Given the description of an element on the screen output the (x, y) to click on. 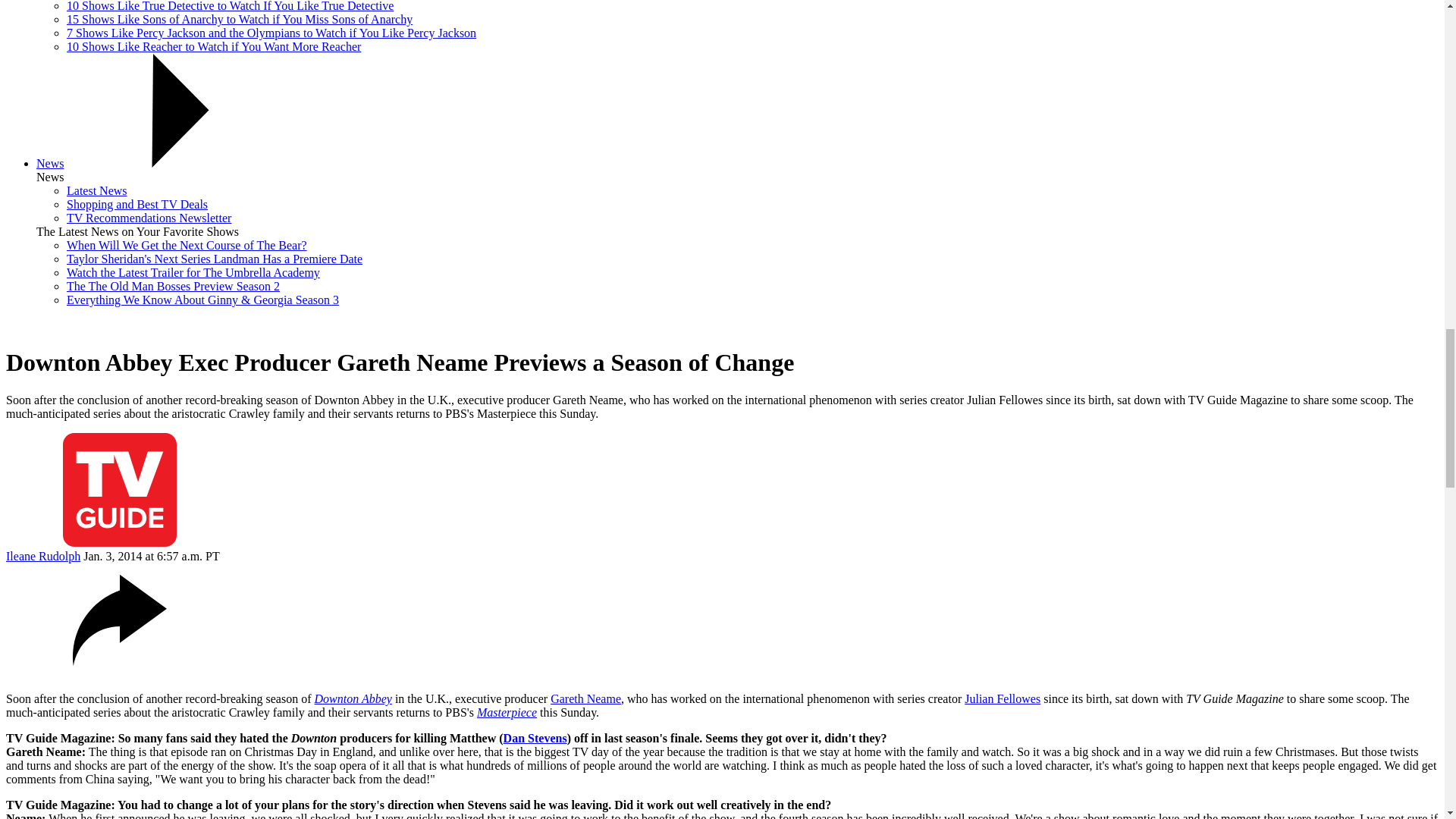
Shopping and Best TV Deals (137, 204)
When Will We Get the Next Course of The Bear? (186, 245)
TV Recommendations Newsletter (148, 217)
Latest News (97, 190)
News (50, 163)
10 Shows Like Reacher to Watch if You Want More Reacher (213, 46)
